Given the description of an element on the screen output the (x, y) to click on. 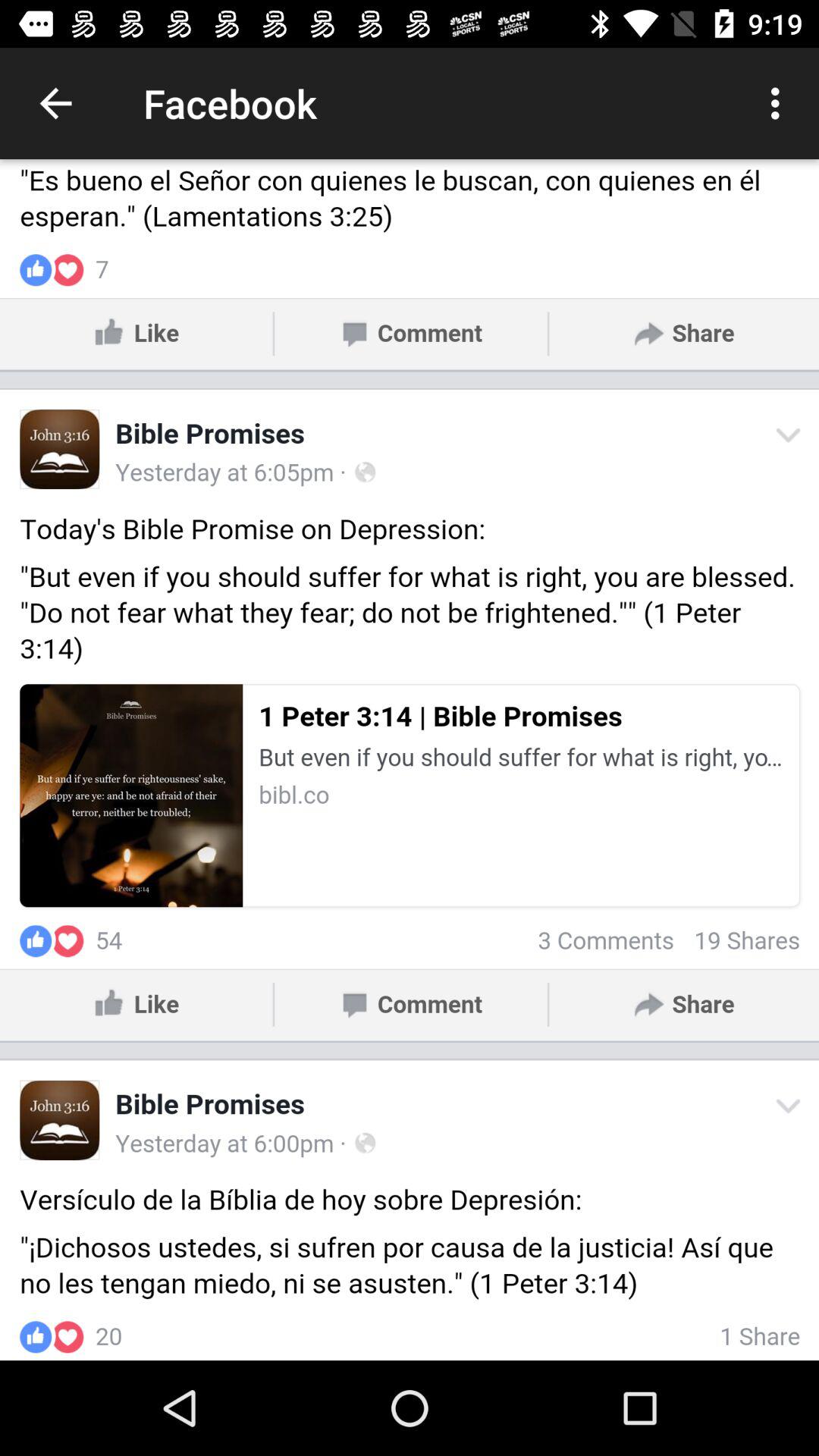
facebook (409, 759)
